Given the description of an element on the screen output the (x, y) to click on. 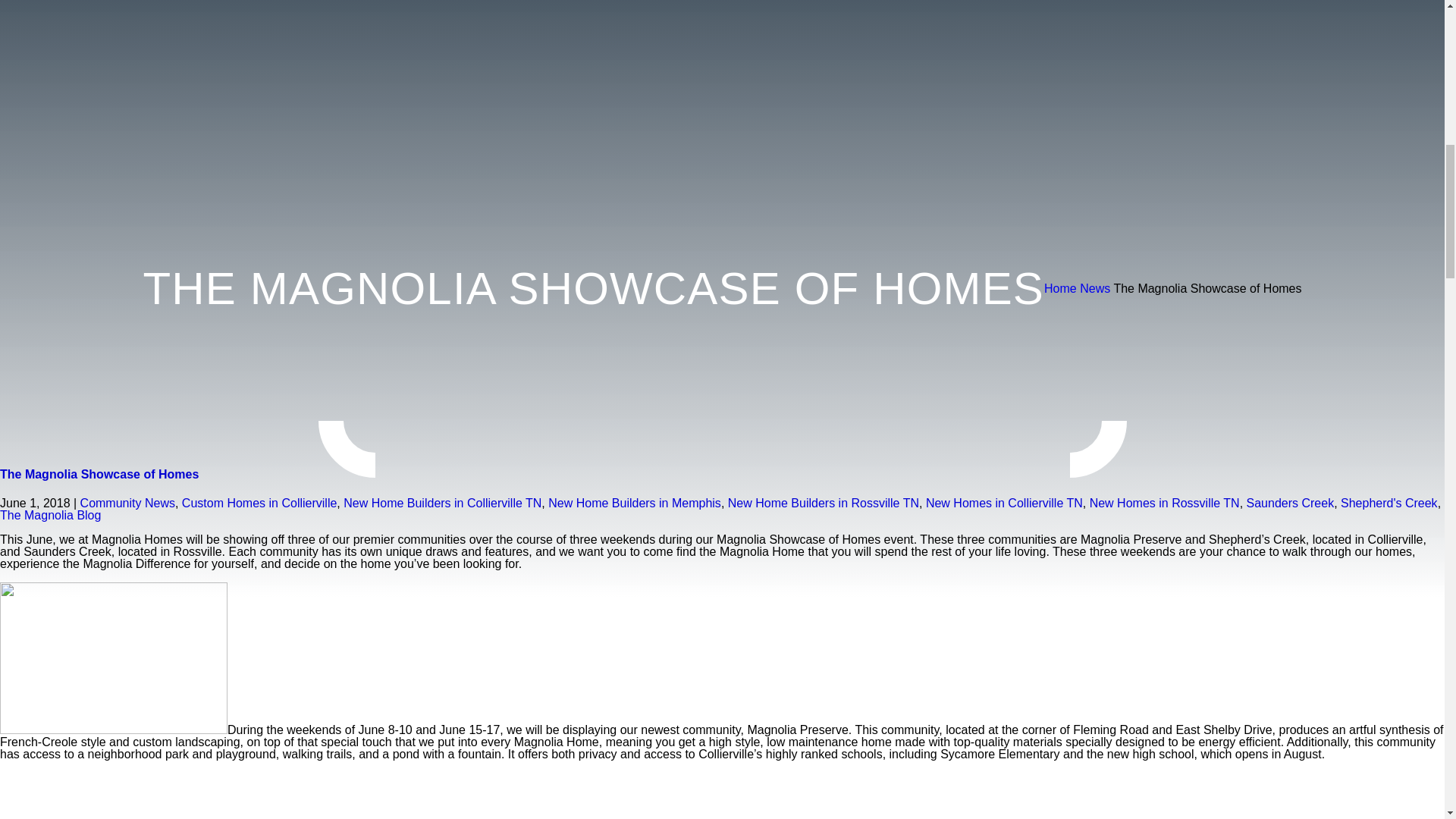
Home (1060, 287)
The Magnolia Blog (50, 514)
The Magnolia Showcase of Homes (99, 473)
Community News (127, 502)
New Home Builders in Collierville TN (442, 502)
New Home Builders in Memphis (634, 502)
Custom Homes in Collierville (259, 502)
New Homes in Collierville TN (1004, 502)
Shepherd's Creek (1389, 502)
New Home Builders in Rossville TN (823, 502)
